Given the description of an element on the screen output the (x, y) to click on. 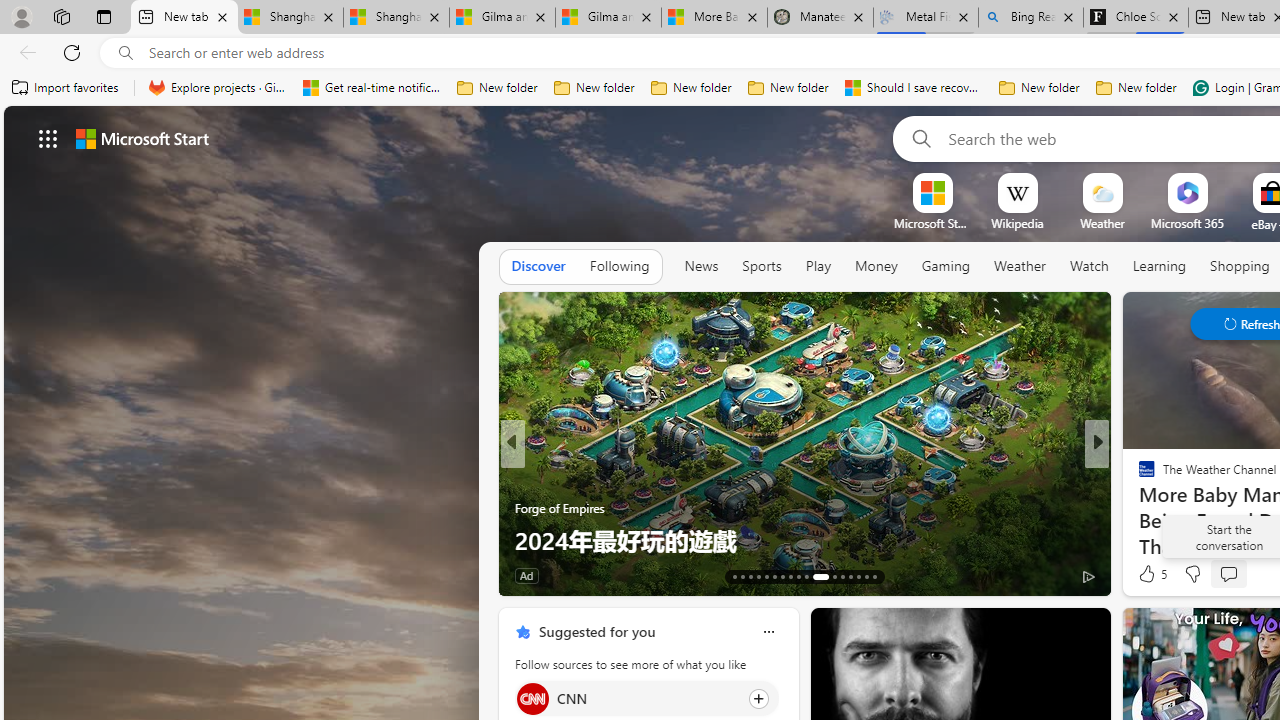
AutomationID: tab-22 (806, 576)
Learning (1159, 267)
New folder (1136, 88)
AutomationID: tab-14 (742, 576)
View comments 42 Comment (11, 575)
App launcher (47, 138)
AutomationID: tab-21 (797, 576)
AutomationID: tab-13 (733, 576)
AutomationID: tab-16 (757, 576)
AutomationID: tab-41 (865, 576)
View comments 5 Comment (1234, 575)
AutomationID: tab-15 (750, 576)
